Given the description of an element on the screen output the (x, y) to click on. 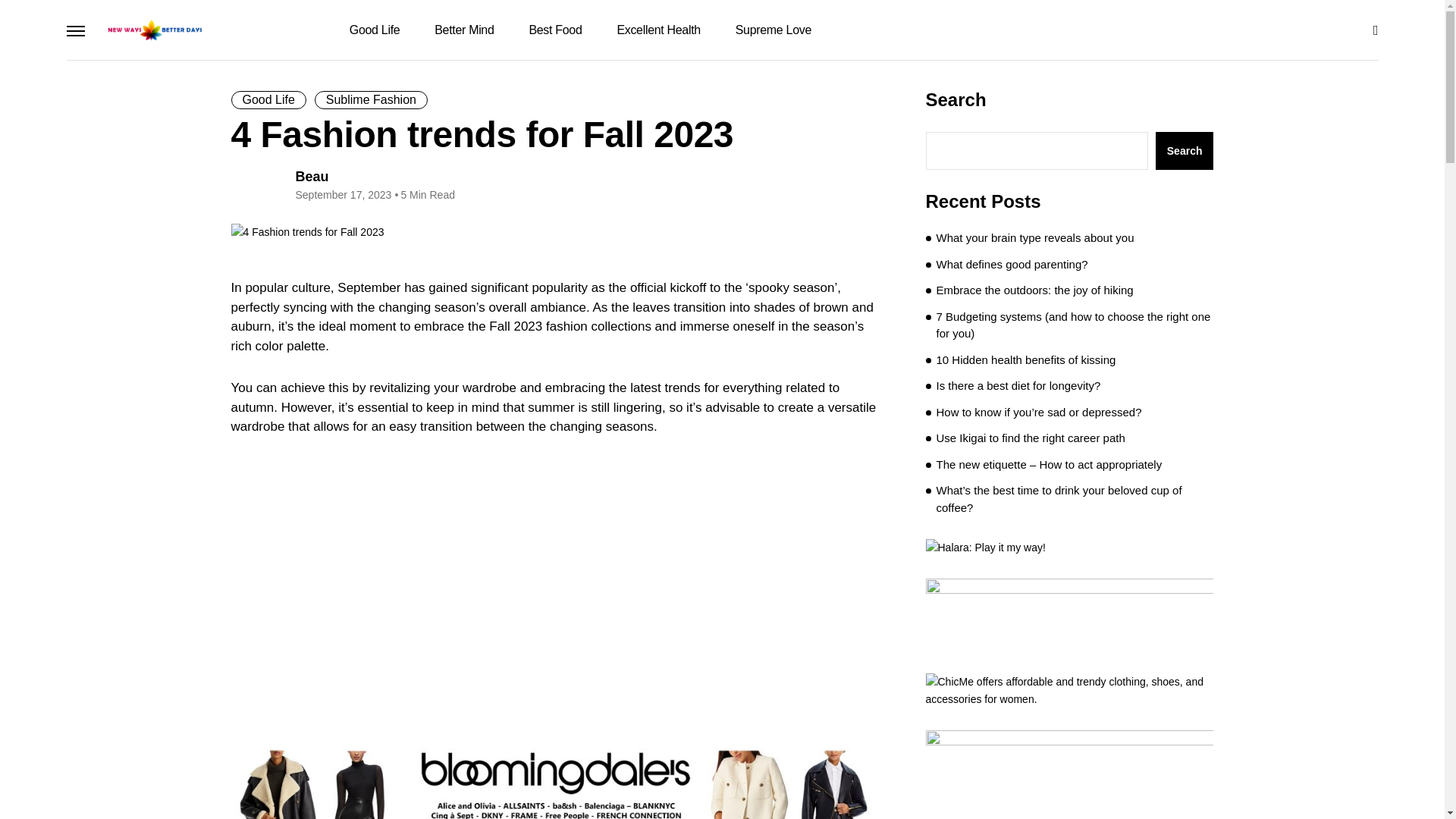
What defines good parenting? (1011, 264)
What your brain type reveals about you (1035, 238)
Excellent Health (657, 30)
Sublime Fashion (371, 99)
Search (1185, 150)
Best Food (554, 30)
Better Mind (464, 30)
Supreme Love (771, 30)
Good Life (267, 99)
Good Life (374, 30)
Embrace the outdoors: the joy of hiking (1034, 290)
